Given the description of an element on the screen output the (x, y) to click on. 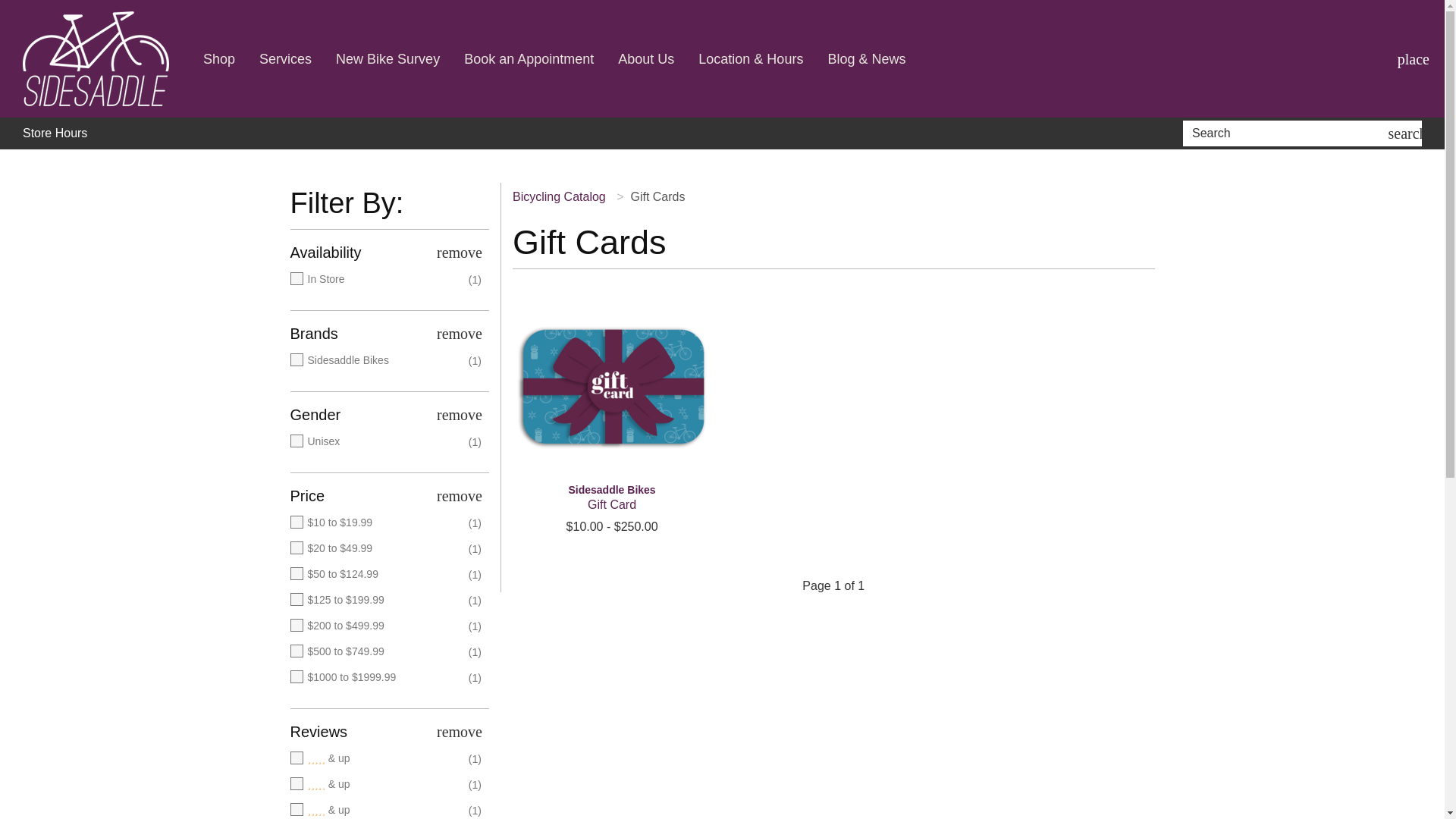
Sidesaddle Bikes Gift Card (611, 497)
Sidesaddle Bikes Gift Card (611, 387)
Search (1287, 133)
4 (375, 784)
5 (375, 758)
Sidesaddle Bikes Home Page (95, 58)
Store Hours (55, 133)
3 (375, 810)
